Given the description of an element on the screen output the (x, y) to click on. 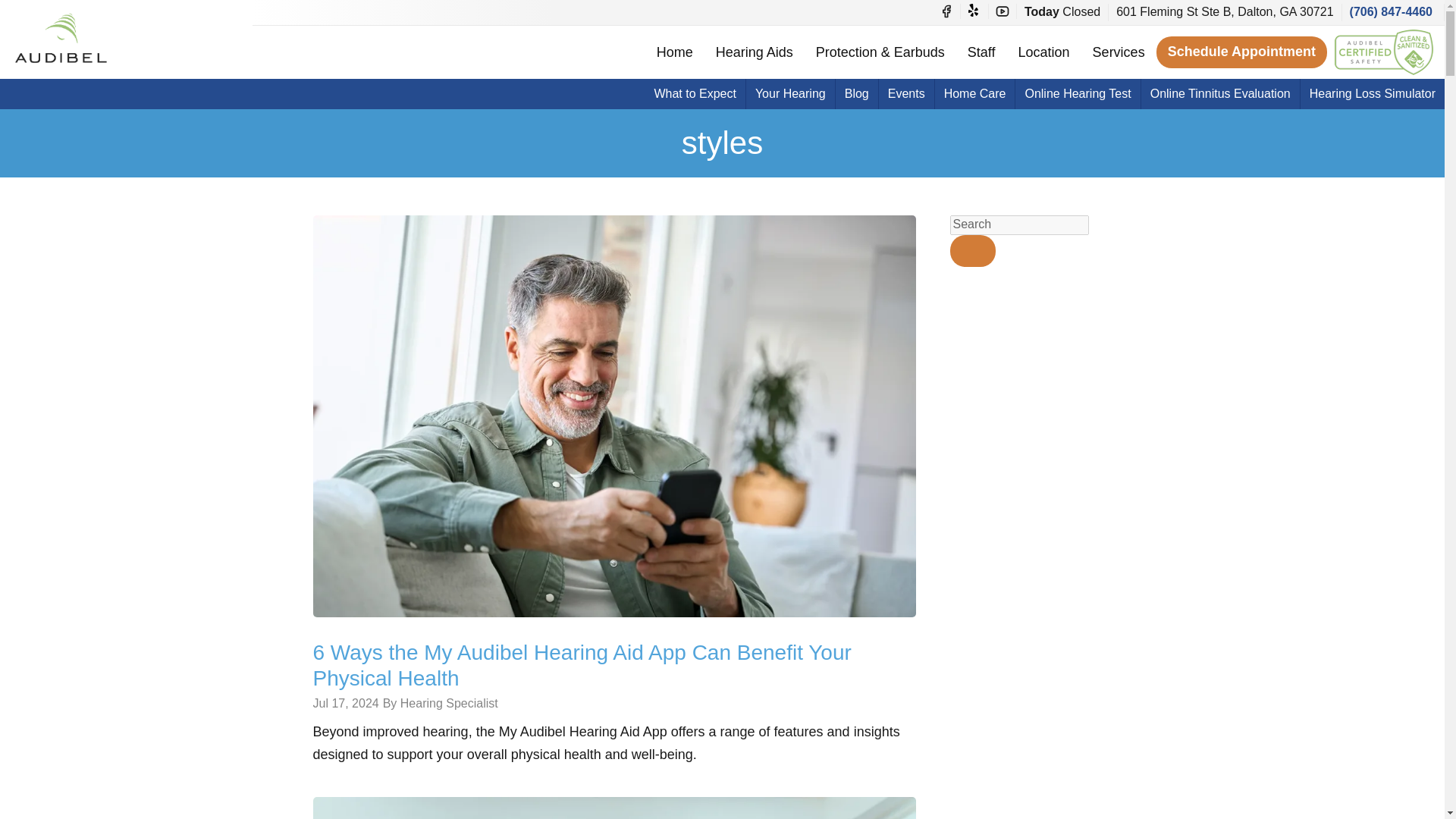
Online Tinnitus Evaluation (1220, 93)
Online Hearing Test (1077, 93)
Hearing Aids (754, 51)
Schedule Appointment (1241, 51)
Audibel Hearing Aid Center Youtube (1002, 11)
Home Care (974, 93)
Audibel Hearing Aid Center Facebook (946, 11)
homepage (60, 37)
Blog (856, 93)
Location (1044, 51)
Services (1118, 51)
Your Hearing (789, 93)
Staff (981, 51)
What to Expect (695, 93)
